Given the description of an element on the screen output the (x, y) to click on. 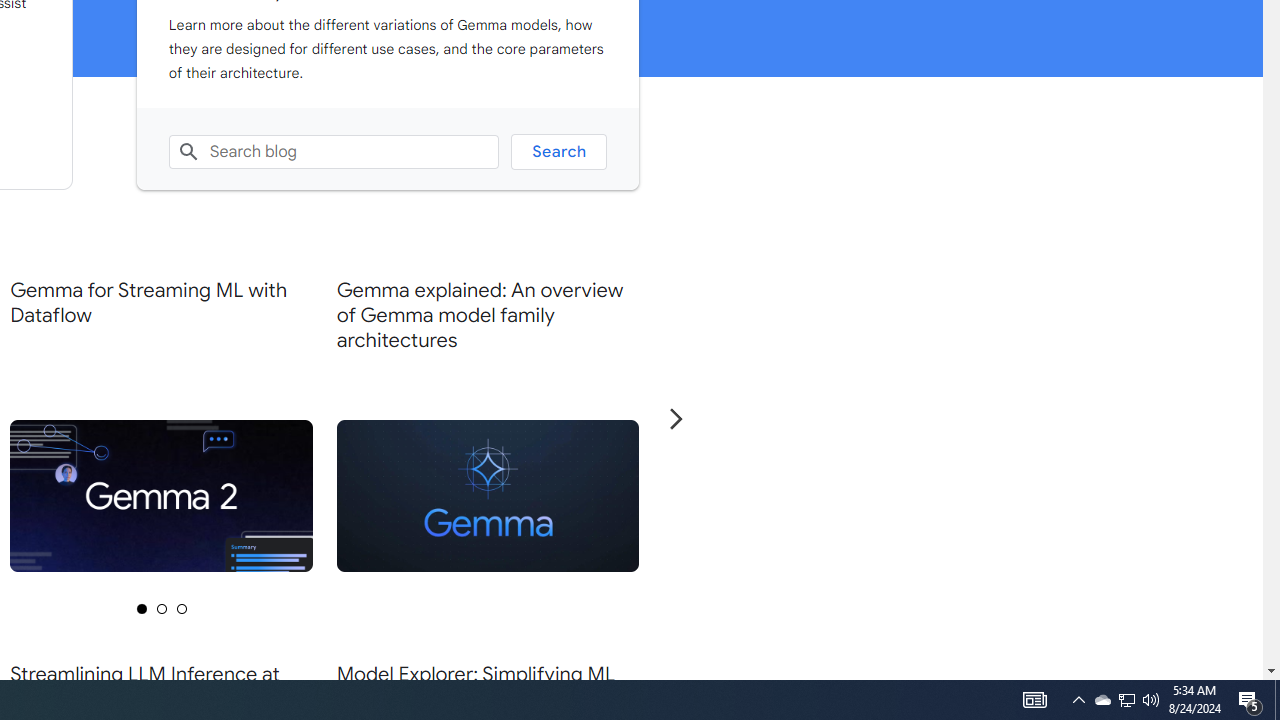
Selected tab 3 of 3 (181, 608)
Gemma for Streaming ML with Dataflow Gemma-2-Feature (161, 418)
Gemma-social (487, 495)
Selected tab 2 of 3 (161, 608)
Next slide (675, 418)
Gemma-2-Feature (161, 495)
Search blog (333, 152)
Selected tab 1 of 3 (141, 608)
